Given the description of an element on the screen output the (x, y) to click on. 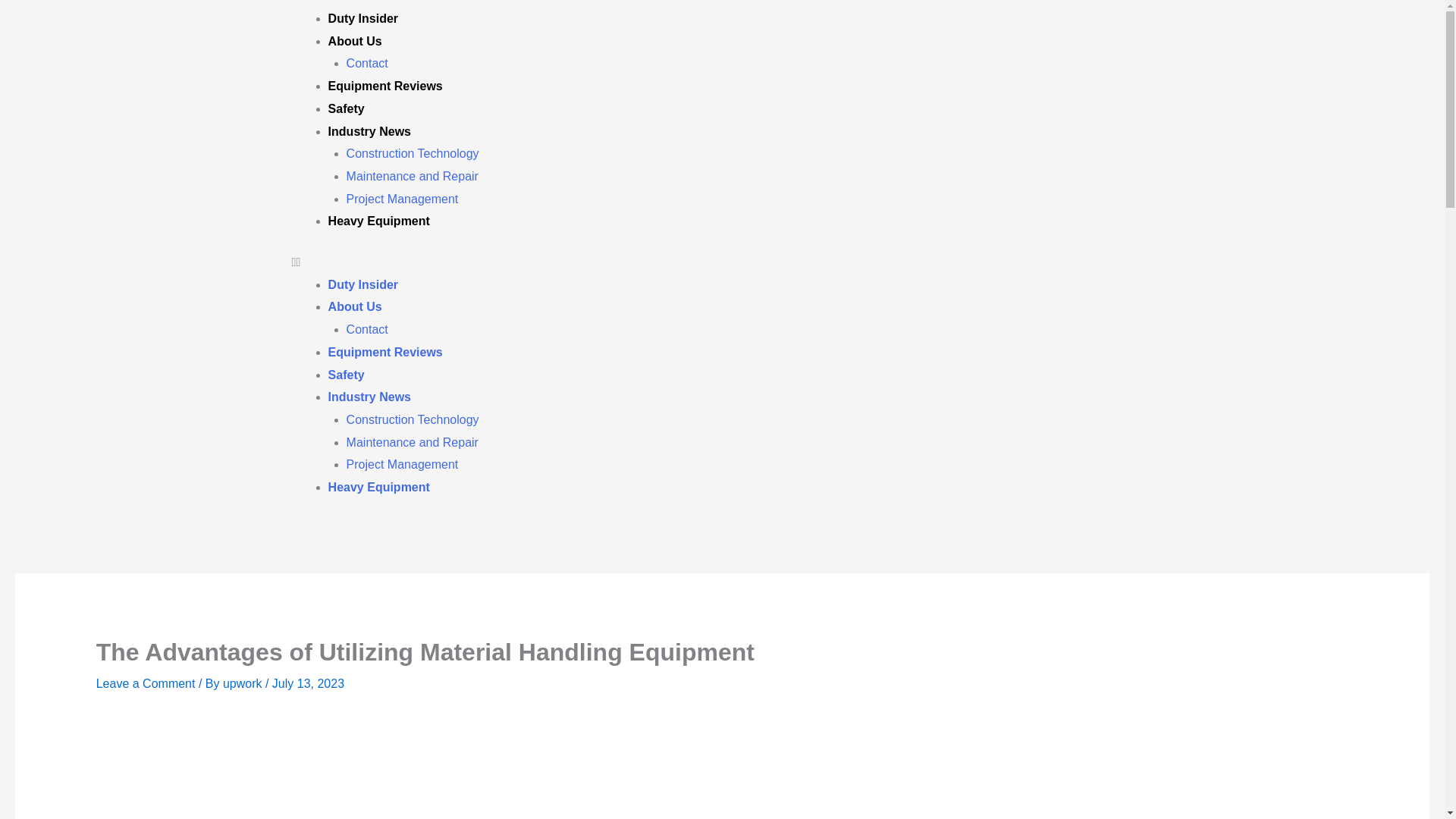
About Us (355, 41)
Leave a Comment (145, 683)
Duty Insider (363, 18)
Maintenance and Repair (412, 441)
Safety (347, 374)
Equipment Reviews (385, 351)
Industry News (369, 131)
Contact (367, 62)
Construction Technology (412, 153)
Equipment Reviews (385, 85)
Project Management (402, 463)
Heavy Equipment (379, 486)
Construction Technology (412, 419)
Industry News (369, 396)
Project Management (402, 198)
